Given the description of an element on the screen output the (x, y) to click on. 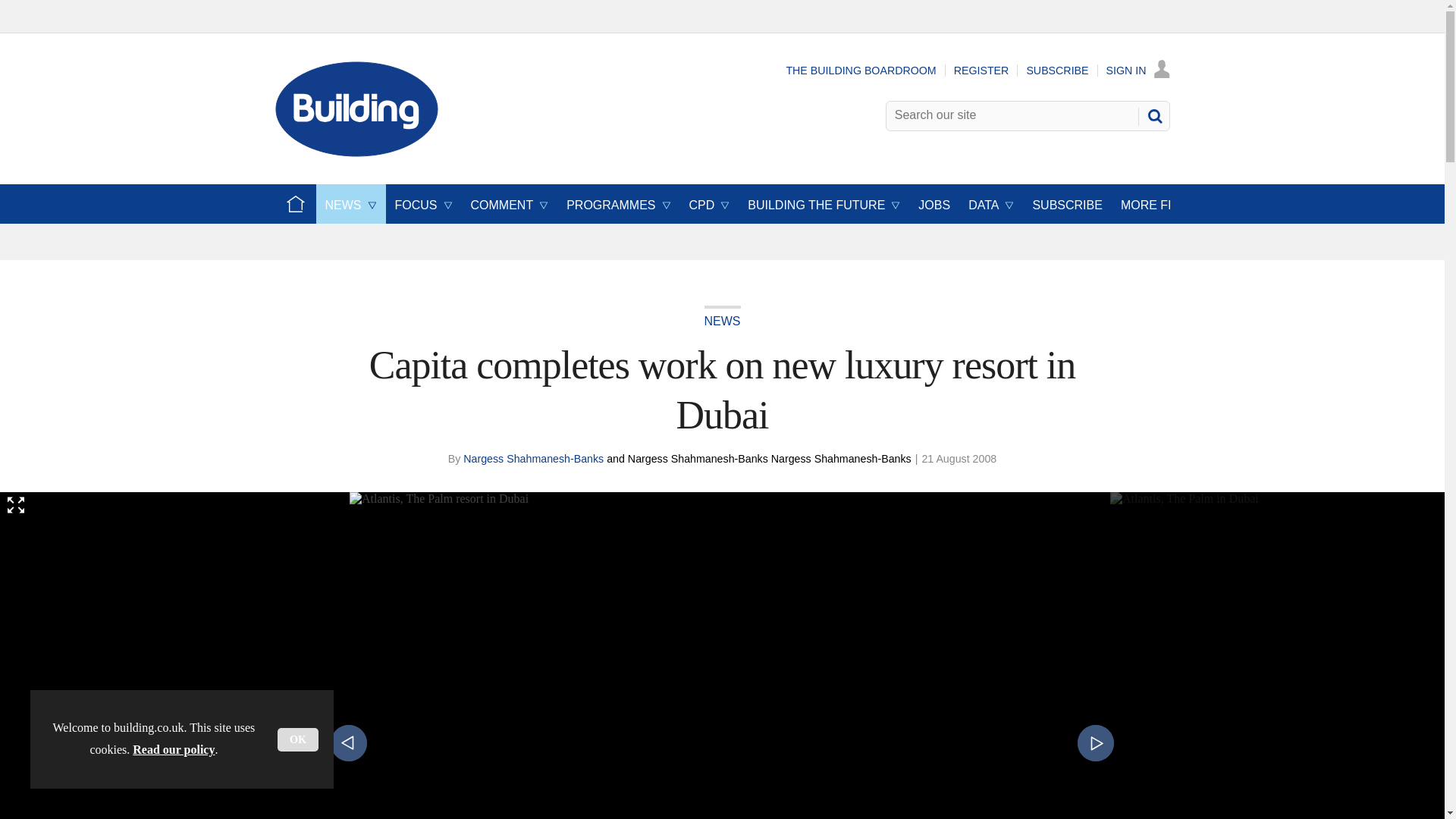
SUBSCRIBE (1056, 70)
Read our policy (173, 748)
Insert Logo text (356, 152)
SIGN IN (1138, 70)
REGISTER (981, 70)
OK (298, 739)
SEARCH (1153, 115)
THE BUILDING BOARDROOM (861, 70)
